Given the description of an element on the screen output the (x, y) to click on. 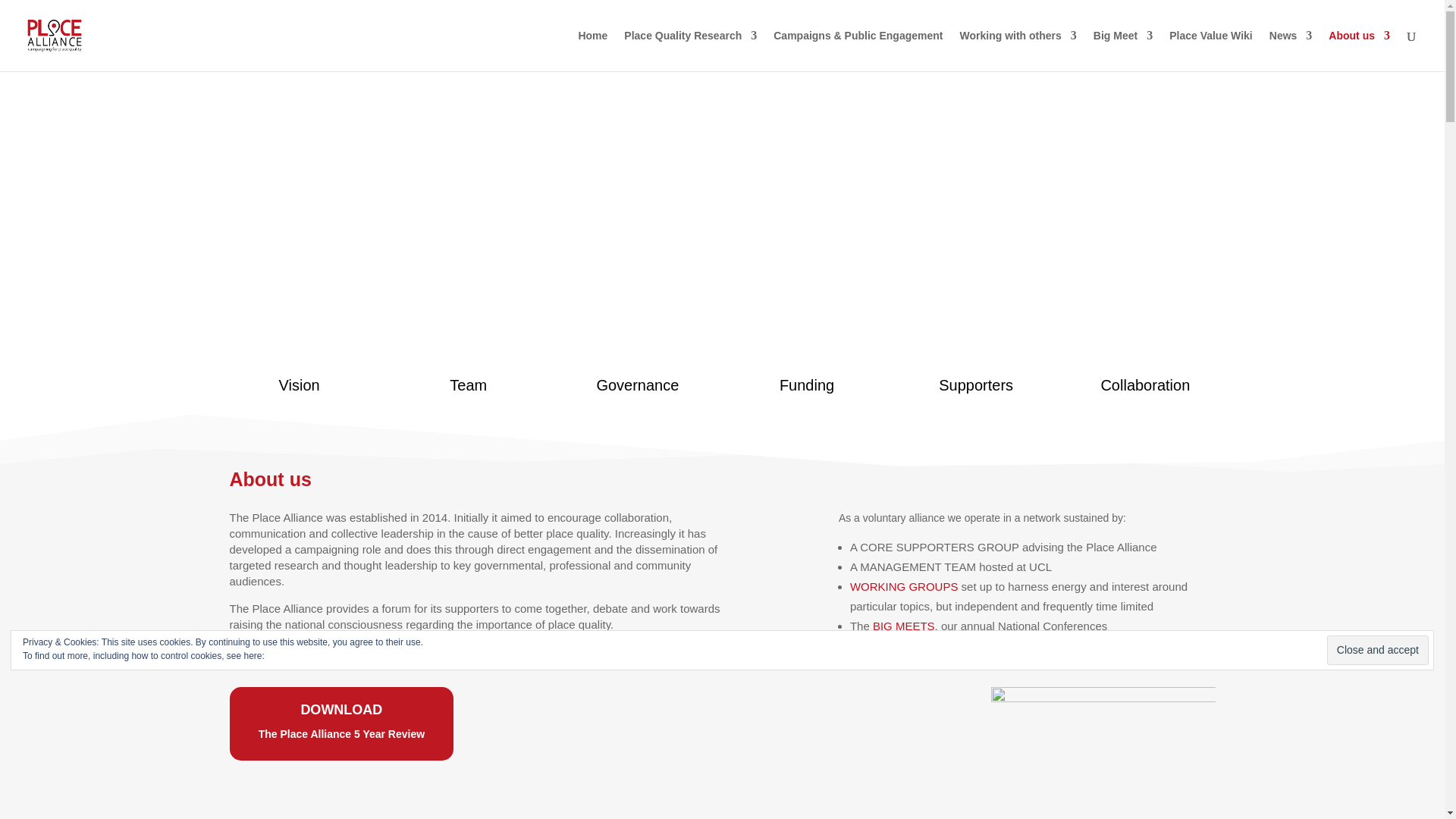
Big Meet (1123, 50)
Supporters (975, 384)
Funding (806, 384)
Close and accept (1377, 650)
Working with others (1018, 50)
News (1291, 50)
Place Quality Research (690, 50)
Team (467, 384)
Place Value Wiki (1210, 50)
WORKING GROUPS (904, 585)
Vision (298, 384)
Collaboration (1144, 384)
BIG MEETS (903, 625)
Governance (637, 384)
About us (1358, 50)
